Given the description of an element on the screen output the (x, y) to click on. 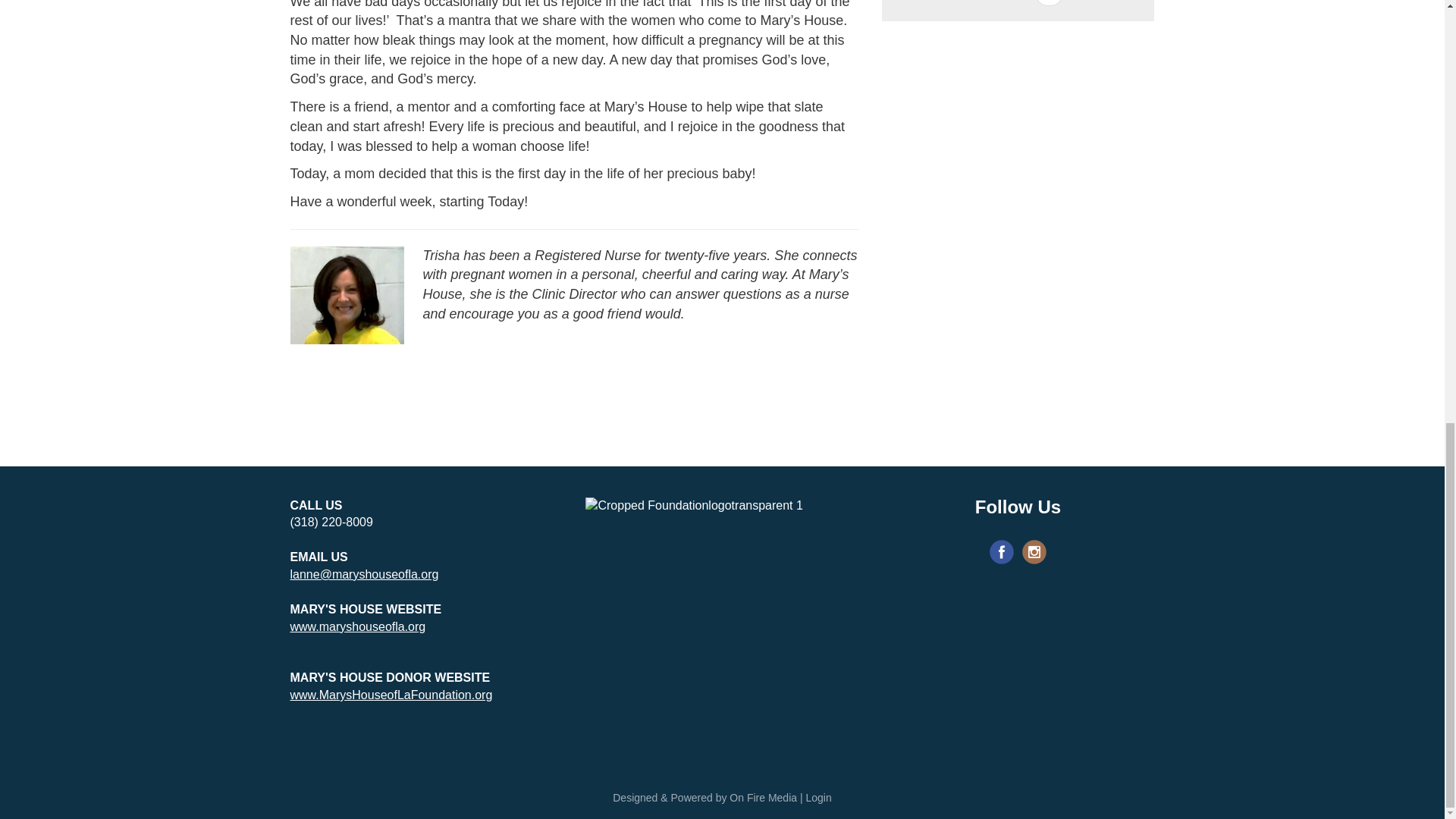
Instagram (1034, 551)
On Fire Media (762, 797)
Login (818, 797)
www.maryshouseofla.org (357, 626)
www.MarysHouseofLaFoundation.org (390, 694)
Subscribe (980, 250)
Facebook (1001, 551)
